Given the description of an element on the screen output the (x, y) to click on. 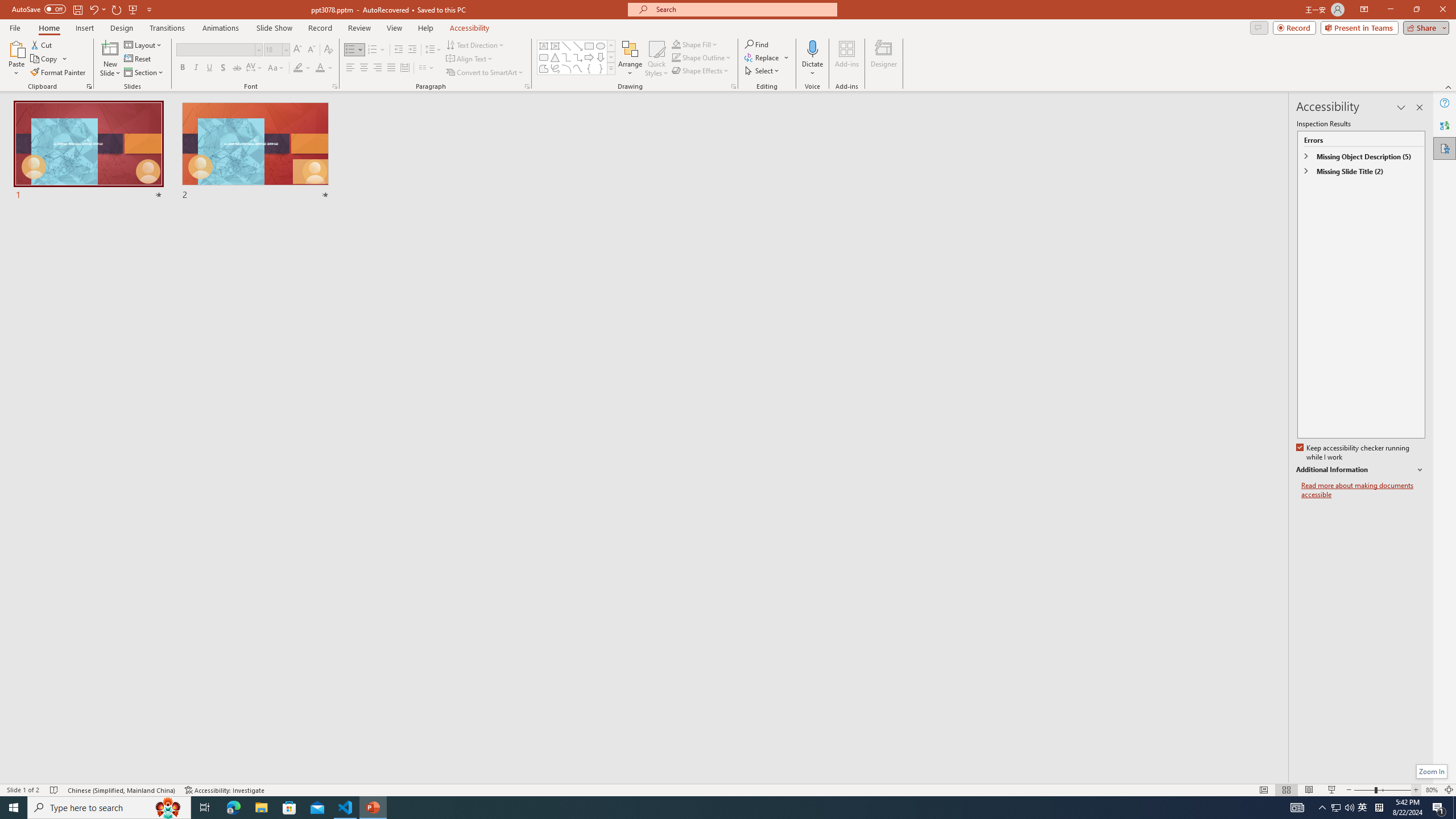
Shape Outline Green, Accent 1 (675, 56)
